Given the description of an element on the screen output the (x, y) to click on. 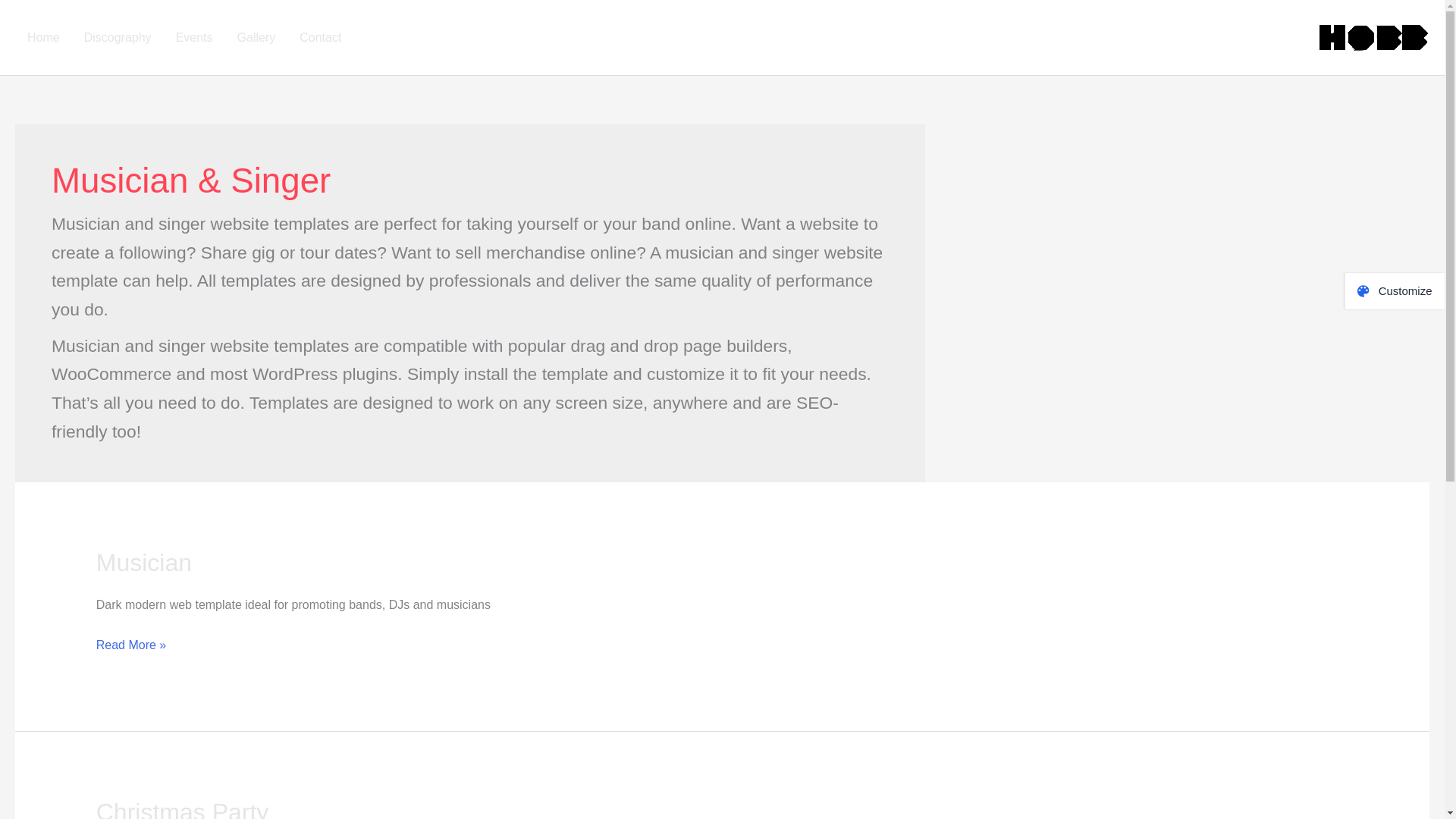
Discography (117, 37)
Christmas Party (182, 808)
Events (194, 37)
Musician (144, 562)
Gallery (256, 37)
Home (42, 37)
Contact (319, 37)
